Given the description of an element on the screen output the (x, y) to click on. 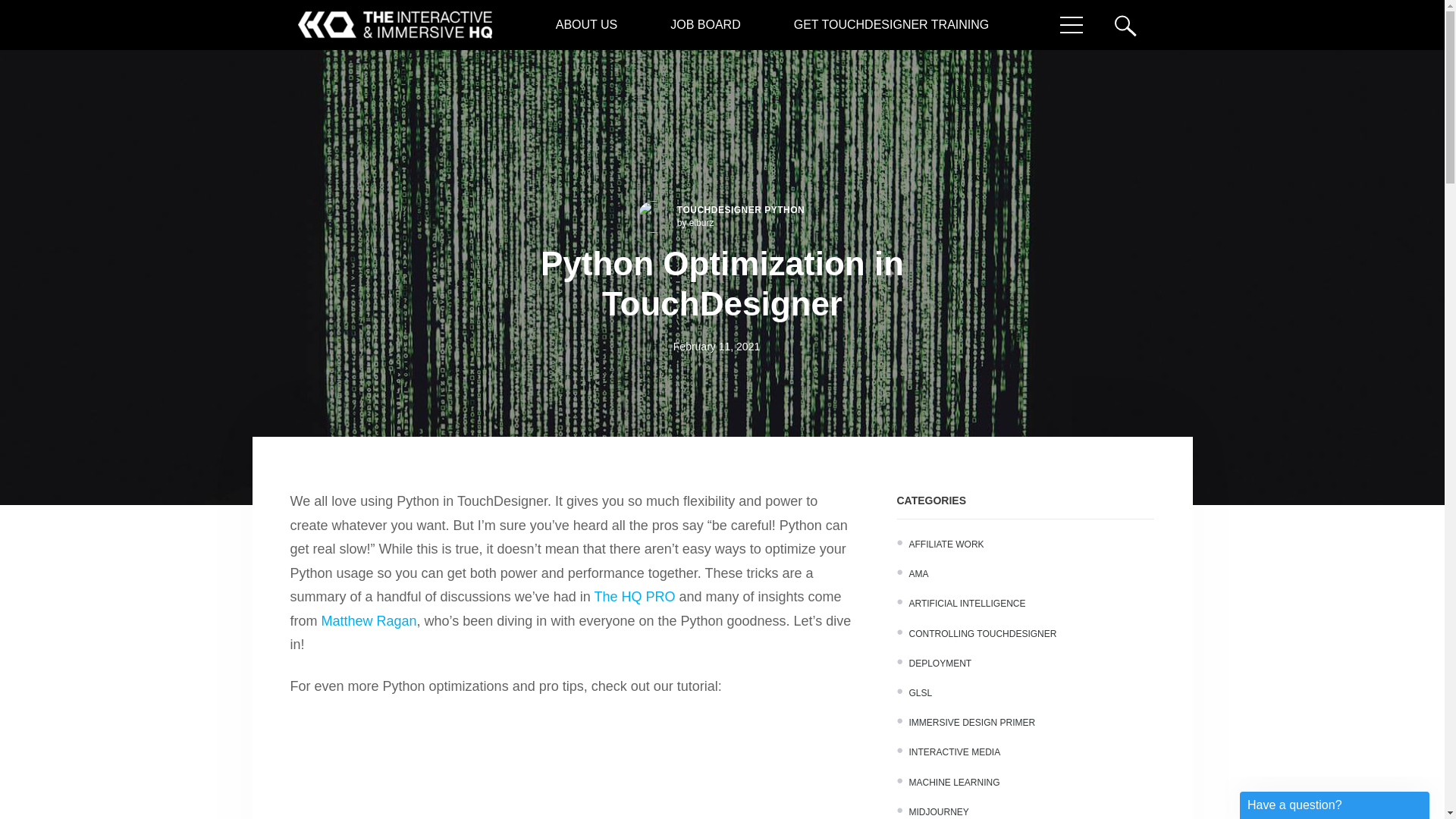
GET TOUCHDESIGNER TRAINING (892, 24)
Python Optimization and Pro Tips For TouchDesigner (574, 767)
Search (1133, 24)
TOUCHDESIGNER PYTHON (741, 210)
JOB BOARD (705, 24)
MIDJOURNEY (938, 811)
AMA (918, 573)
February 11, 2021 (716, 346)
IMMERSIVE DESIGN PRIMER (971, 722)
ABOUT US (586, 24)
ARTIFICIAL INTELLIGENCE (966, 603)
AFFILIATE WORK (946, 543)
INTERACTIVE MEDIA (954, 751)
CONTROLLING TOUCHDESIGNER (982, 633)
GLSL (919, 692)
